Given the description of an element on the screen output the (x, y) to click on. 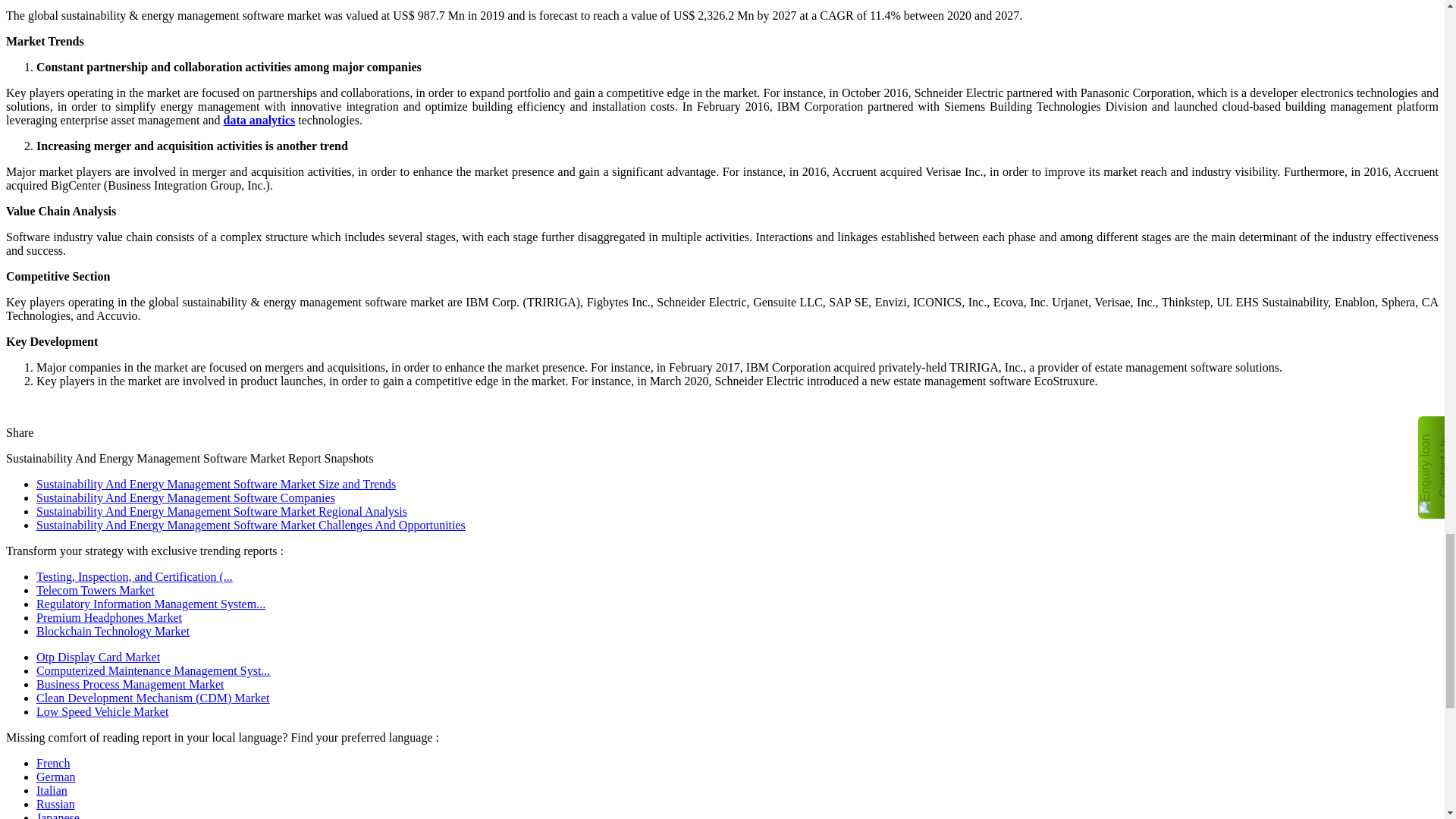
 Computerized Maintenance Management System Market (152, 670)
 Blockchain Technology Market (112, 631)
 Otp Display Card Market (98, 656)
 Telecom Towers Market (95, 590)
 Premium Headphones Market (109, 617)
